Given the description of an element on the screen output the (x, y) to click on. 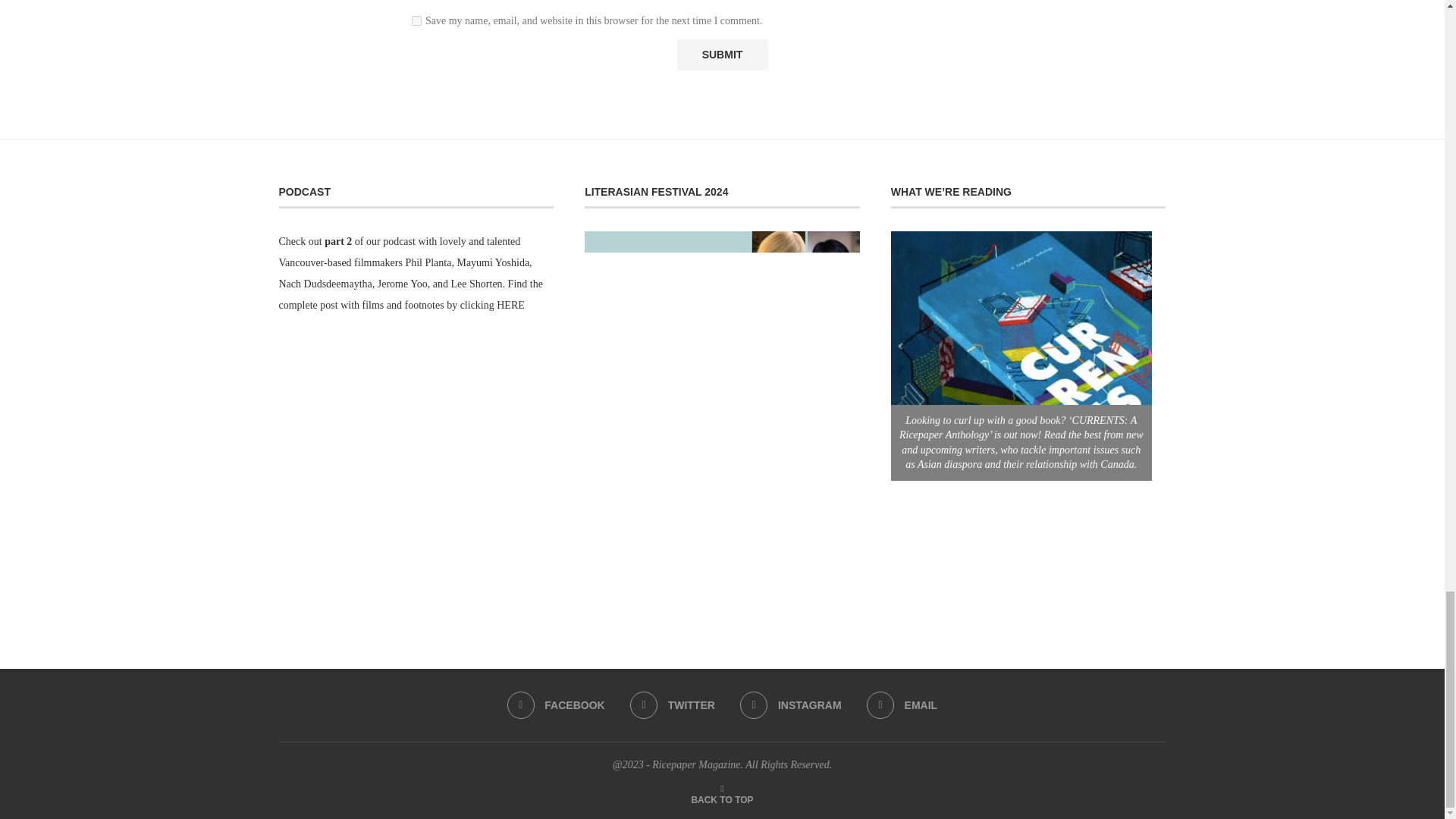
Submit (722, 54)
TWITTER (672, 705)
yes (417, 20)
FACEBOOK (555, 705)
Submit (722, 54)
INSTAGRAM (790, 705)
HERE (510, 305)
